Given the description of an element on the screen output the (x, y) to click on. 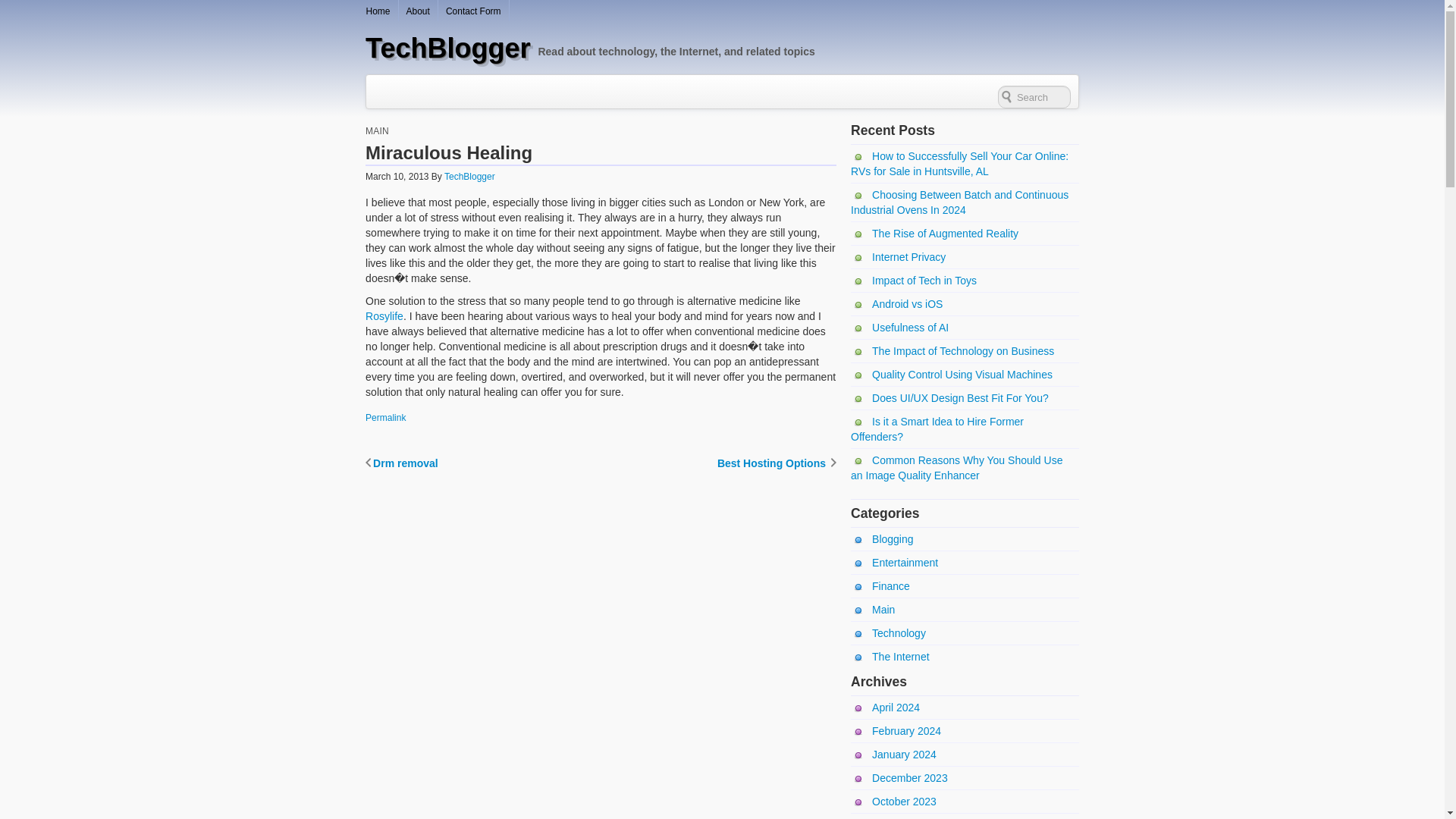
Quality Control Using Visual Machines (951, 374)
Drm removal (401, 463)
View all posts by TechBlogger (469, 176)
Entertainment (893, 562)
Main (872, 609)
The Impact of Technology on Business (952, 350)
Best Hosting Options (776, 463)
February 2024 (895, 730)
TechBlogger (447, 47)
Blogging (882, 539)
Impact of Tech in Toys (913, 280)
Rosylife (384, 316)
Android vs iOS (896, 304)
Permalink to Miraculous Healing (385, 417)
